Given the description of an element on the screen output the (x, y) to click on. 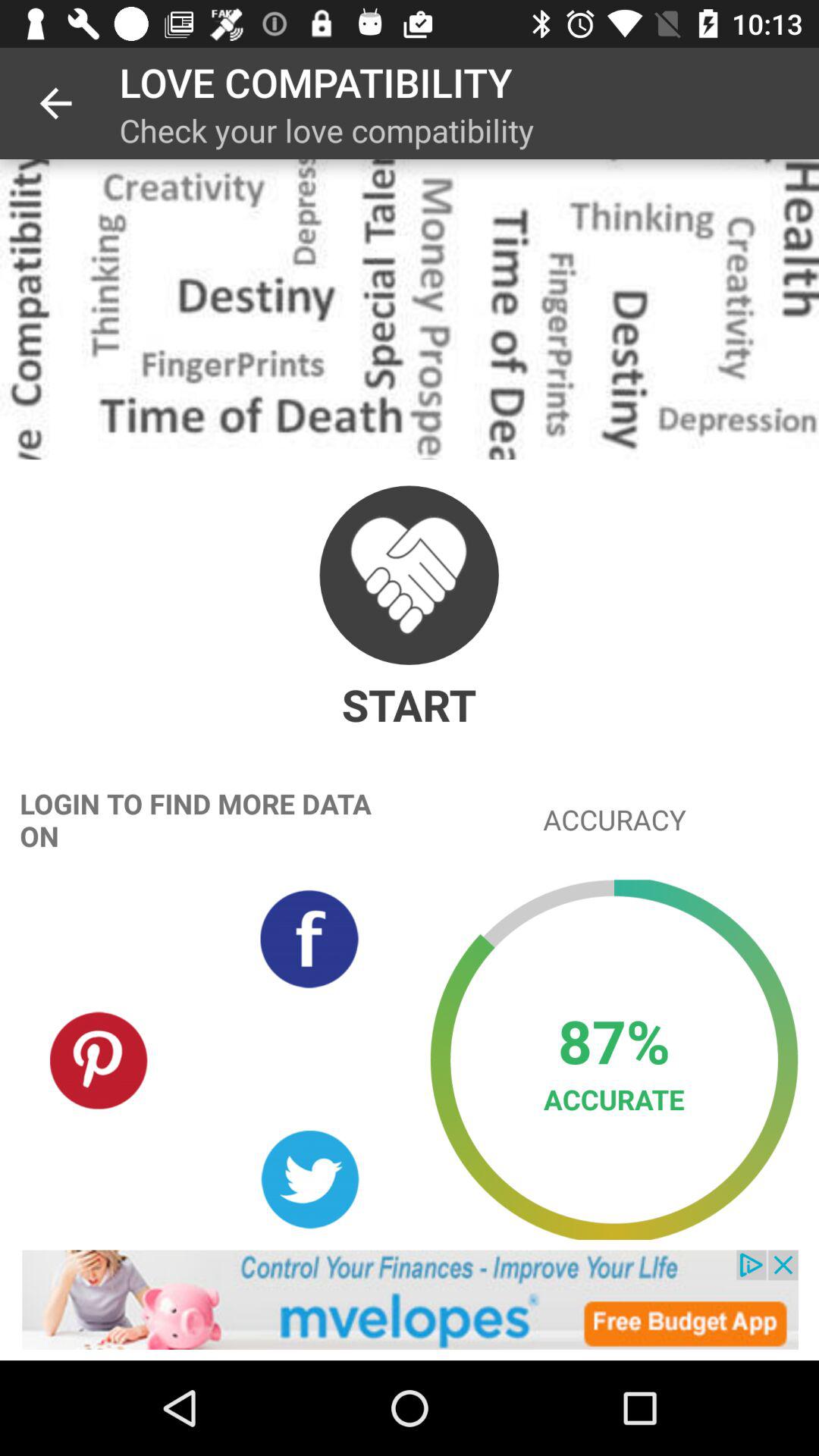
go to advertisement (409, 1299)
